Given the description of an element on the screen output the (x, y) to click on. 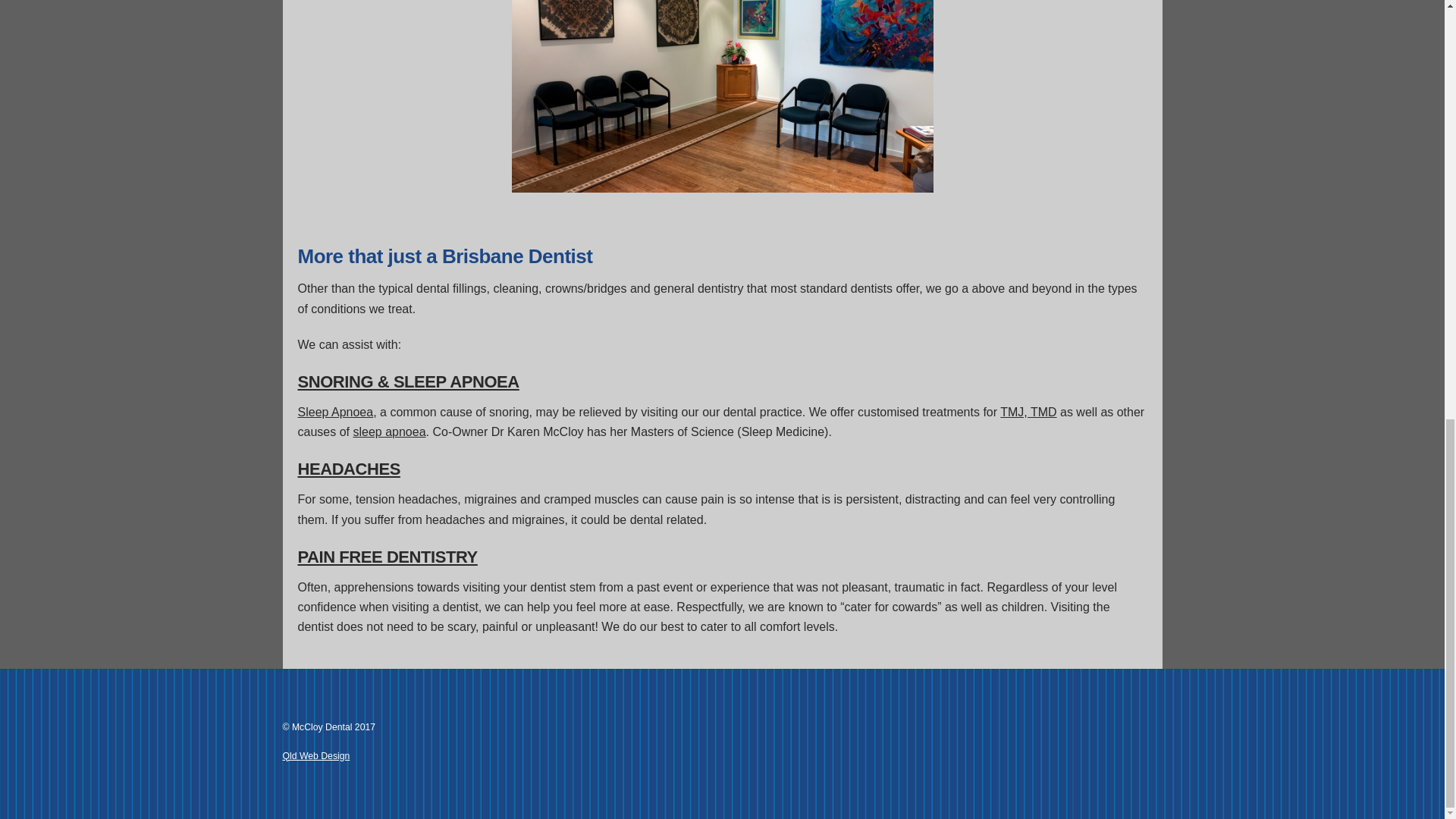
Sleep Apnoea (387, 556)
